Given the description of an element on the screen output the (x, y) to click on. 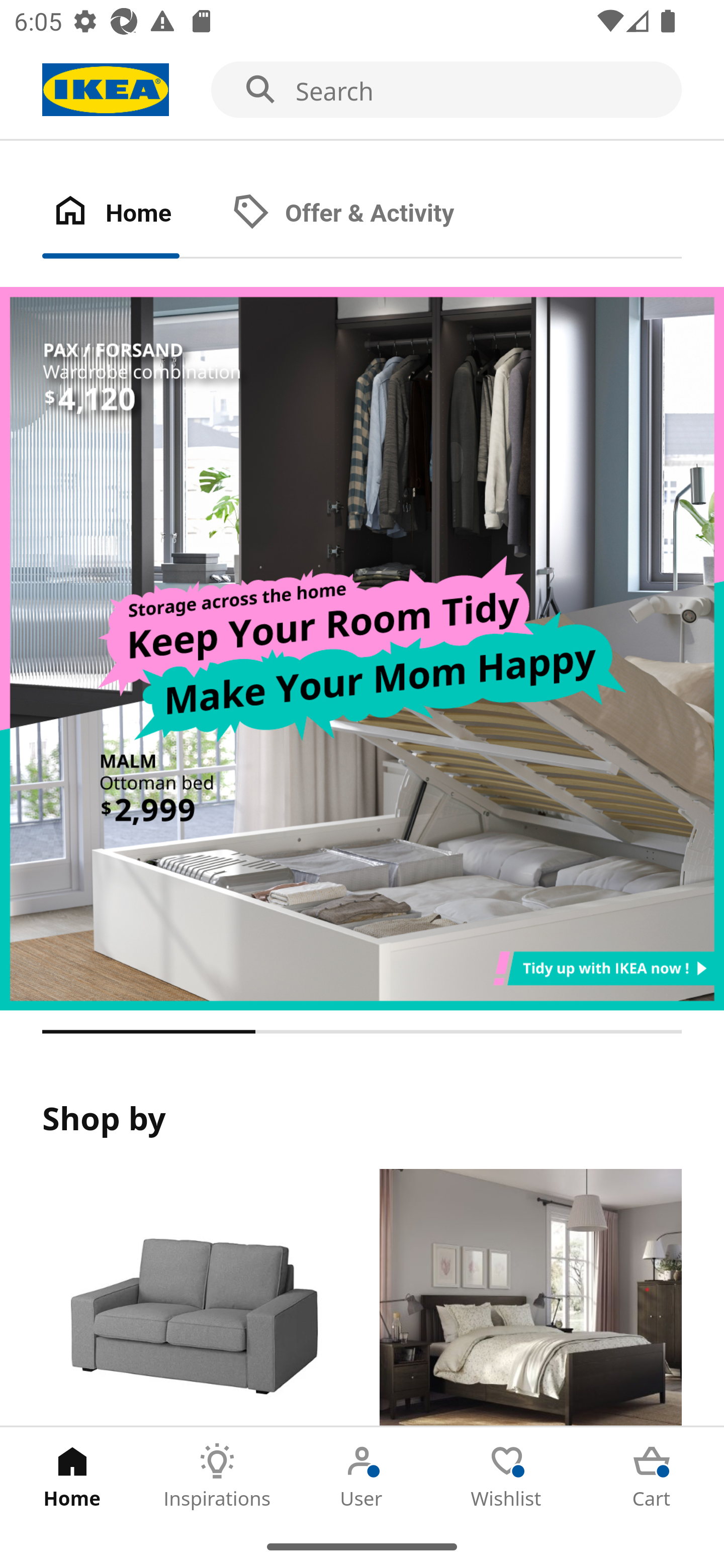
Search (361, 90)
Home
Tab 1 of 2 (131, 213)
Offer & Activity
Tab 2 of 2 (363, 213)
Products (192, 1297)
Rooms (530, 1297)
Home
Tab 1 of 5 (72, 1476)
Inspirations
Tab 2 of 5 (216, 1476)
User
Tab 3 of 5 (361, 1476)
Wishlist
Tab 4 of 5 (506, 1476)
Cart
Tab 5 of 5 (651, 1476)
